Given the description of an element on the screen output the (x, y) to click on. 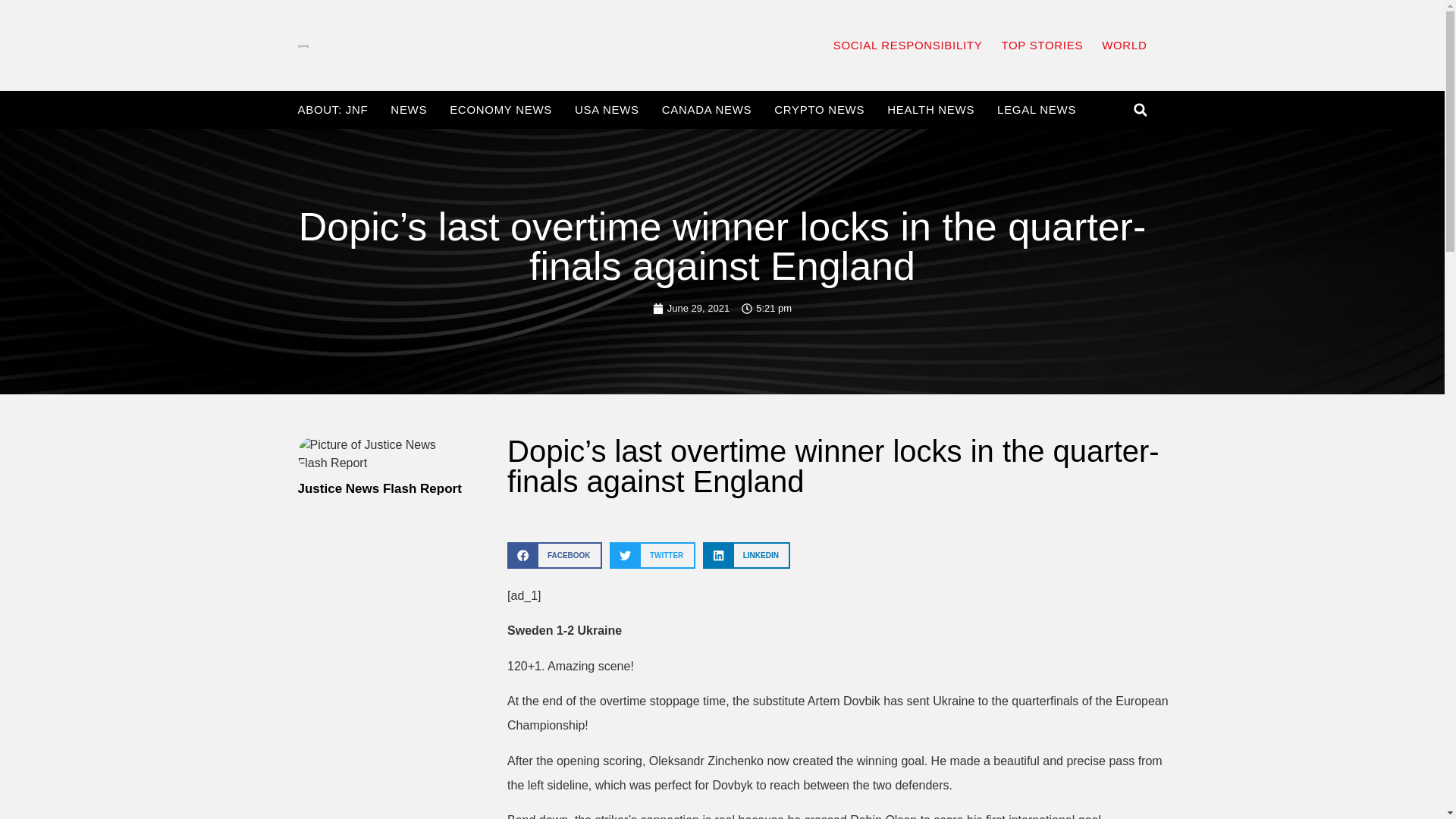
HEALTH NEWS (930, 109)
WORLD (1124, 45)
June 29, 2021 (690, 308)
LEGAL NEWS (1036, 109)
ABOUT: JNF (332, 109)
ECONOMY NEWS (500, 109)
TOP STORIES (1042, 45)
USA NEWS (606, 109)
SOCIAL RESPONSIBILITY (907, 45)
CANADA NEWS (706, 109)
